Given the description of an element on the screen output the (x, y) to click on. 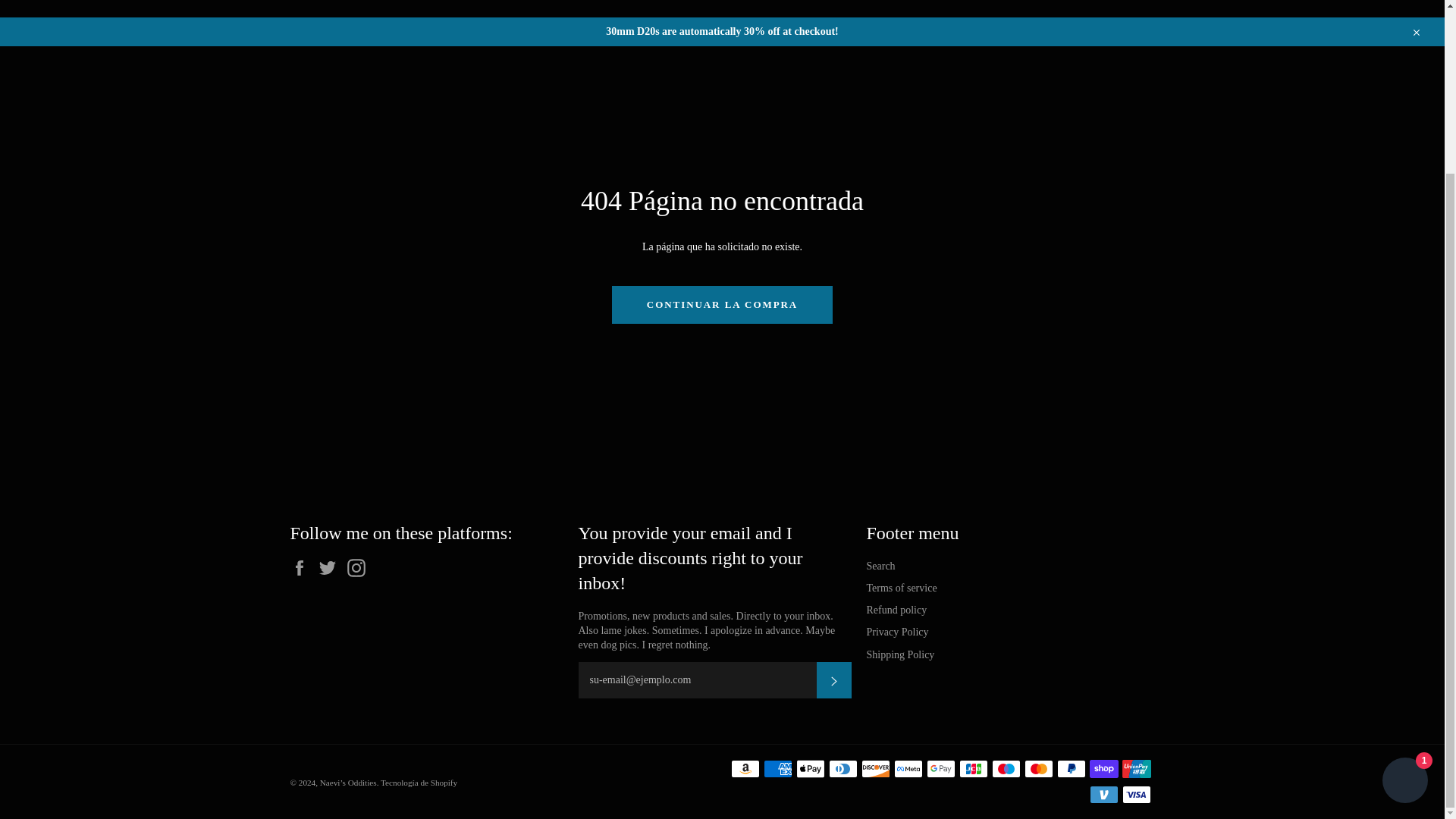
SEARCH (654, 8)
Terms of service (901, 587)
HOME (307, 8)
CONTINUAR LA COMPRA (721, 304)
Instagram (359, 567)
SUSCRIBIRSE (832, 679)
ALL COLLECTIONS (412, 8)
Search (880, 565)
Twitter (330, 567)
Chat de la tienda online Shopify (1404, 572)
HANDMADE DICE (548, 8)
Refund policy (896, 609)
Cuenta (1140, 8)
Privacy Policy (897, 632)
Shipping Policy (900, 654)
